Given the description of an element on the screen output the (x, y) to click on. 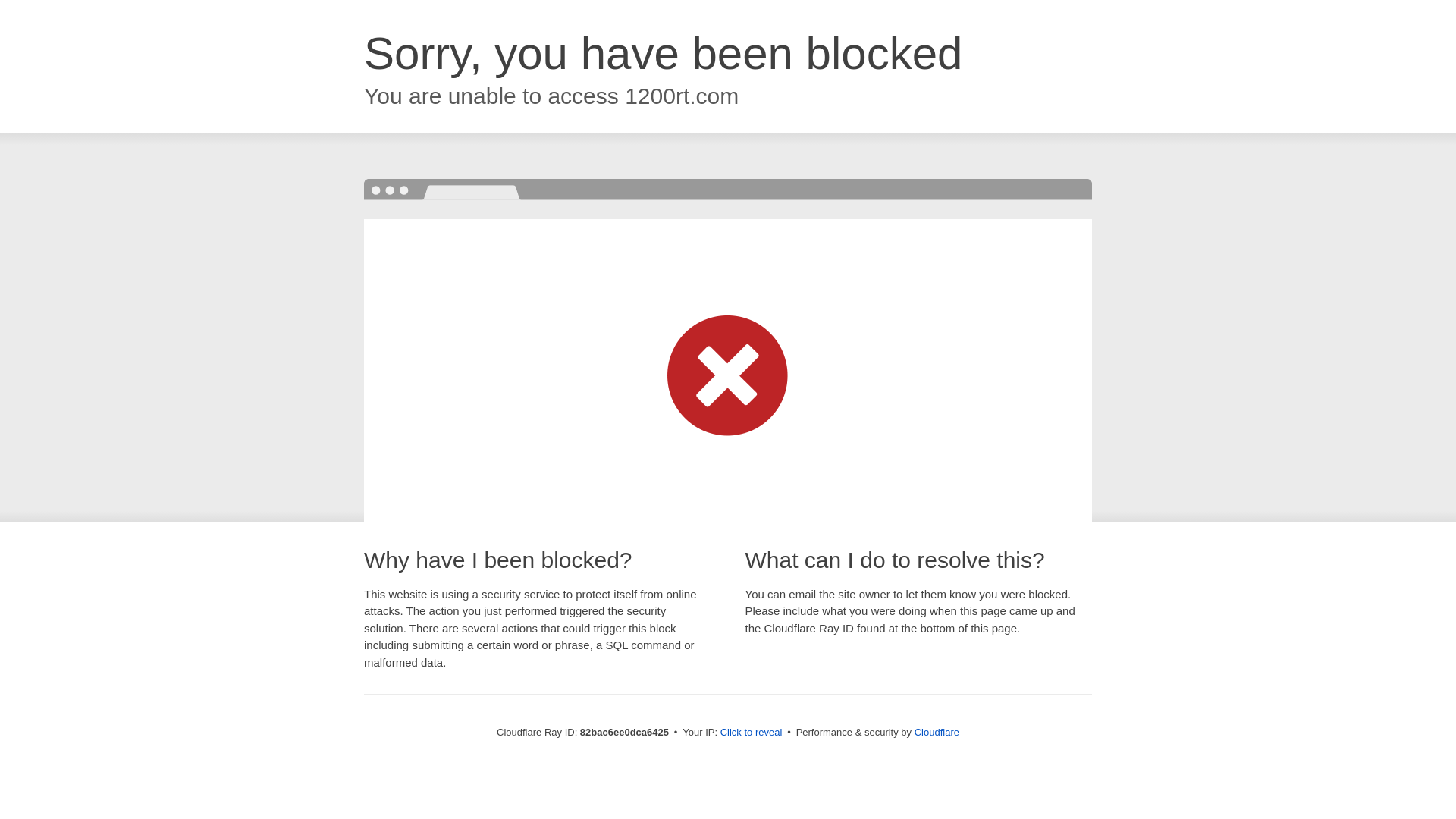
Click to reveal Element type: text (751, 732)
Cloudflare Element type: text (936, 731)
